Given the description of an element on the screen output the (x, y) to click on. 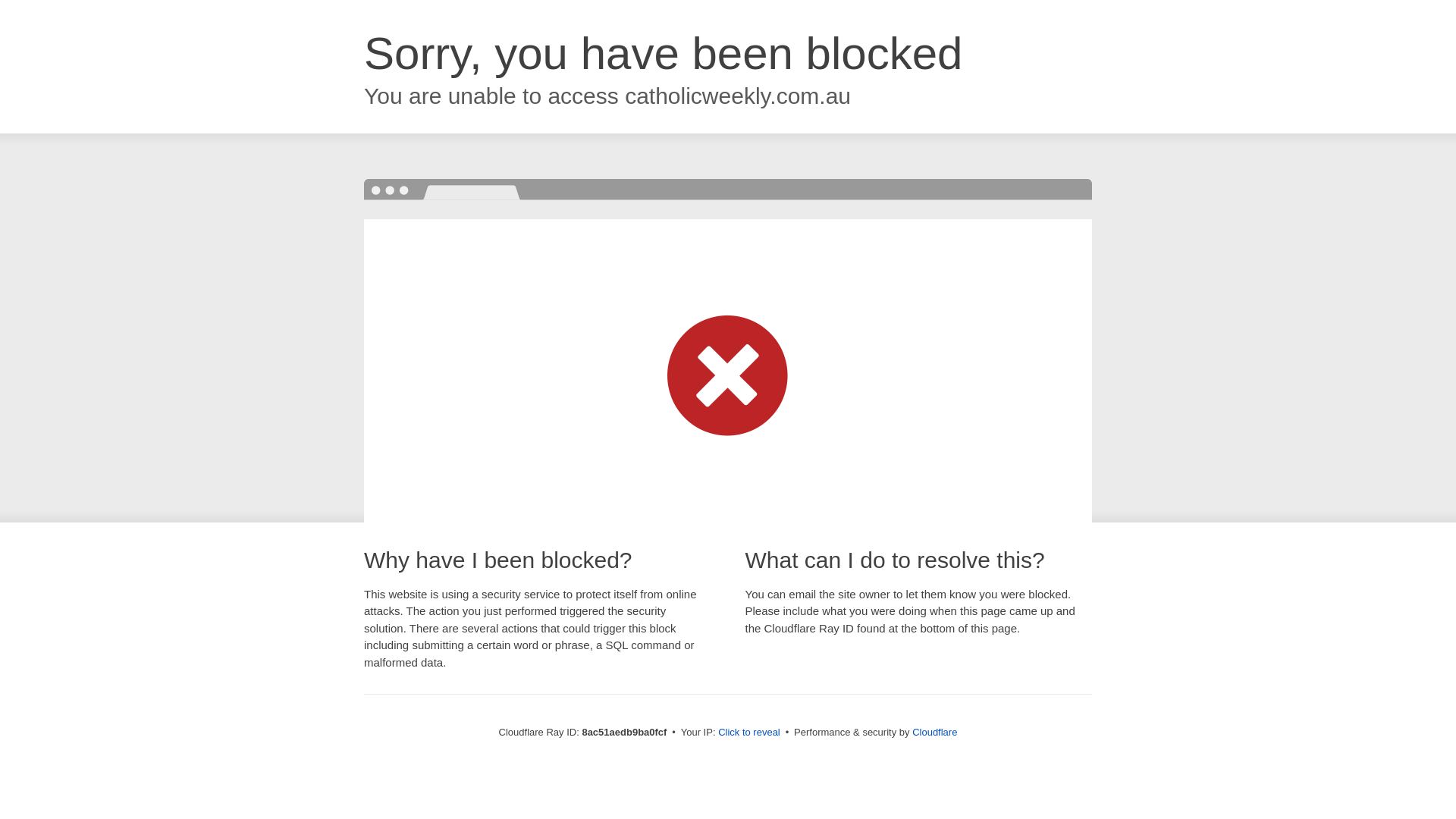
Click to reveal (748, 732)
Cloudflare (934, 731)
